Given the description of an element on the screen output the (x, y) to click on. 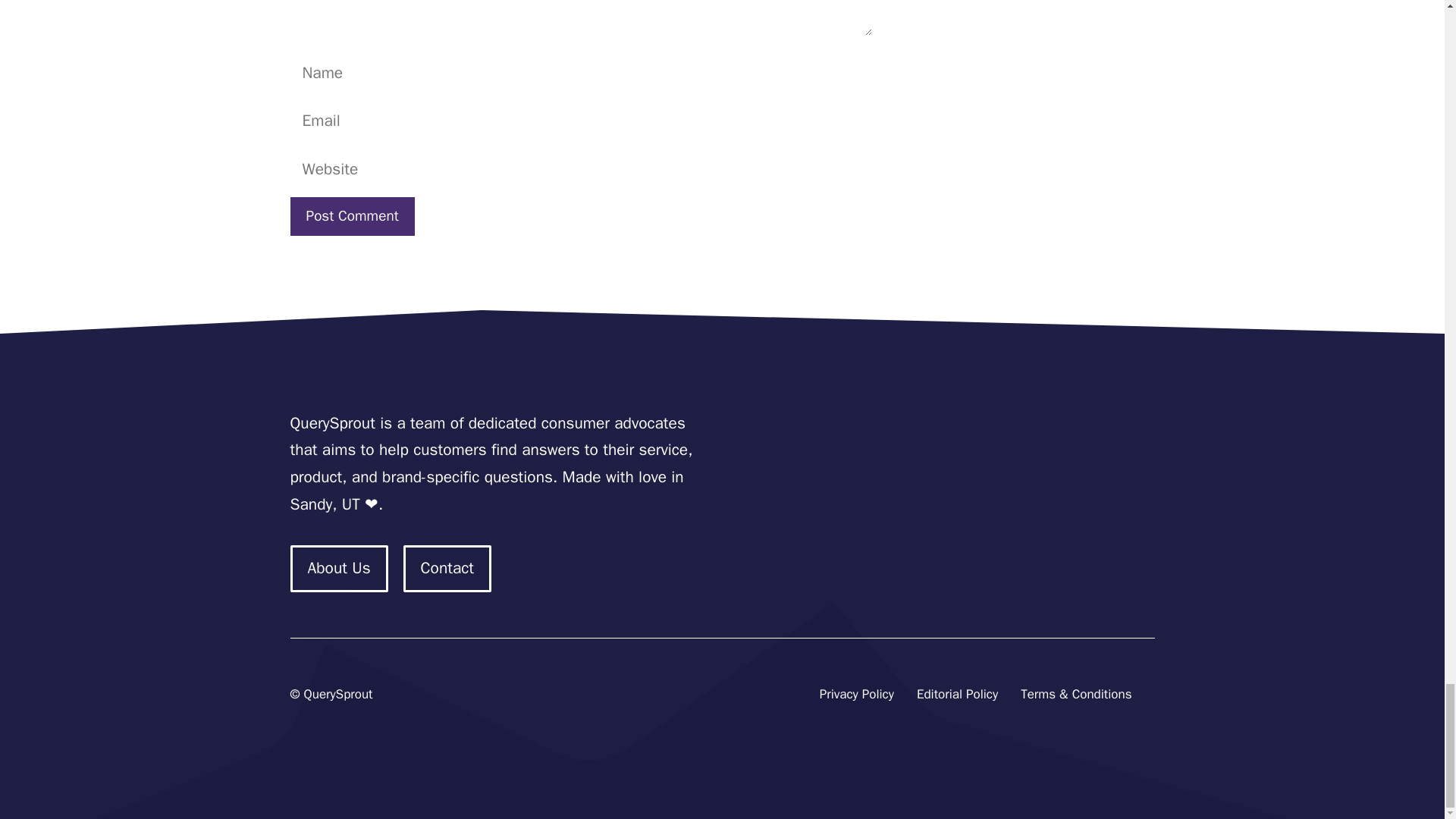
Post Comment (351, 216)
Post Comment (351, 216)
